Given the description of an element on the screen output the (x, y) to click on. 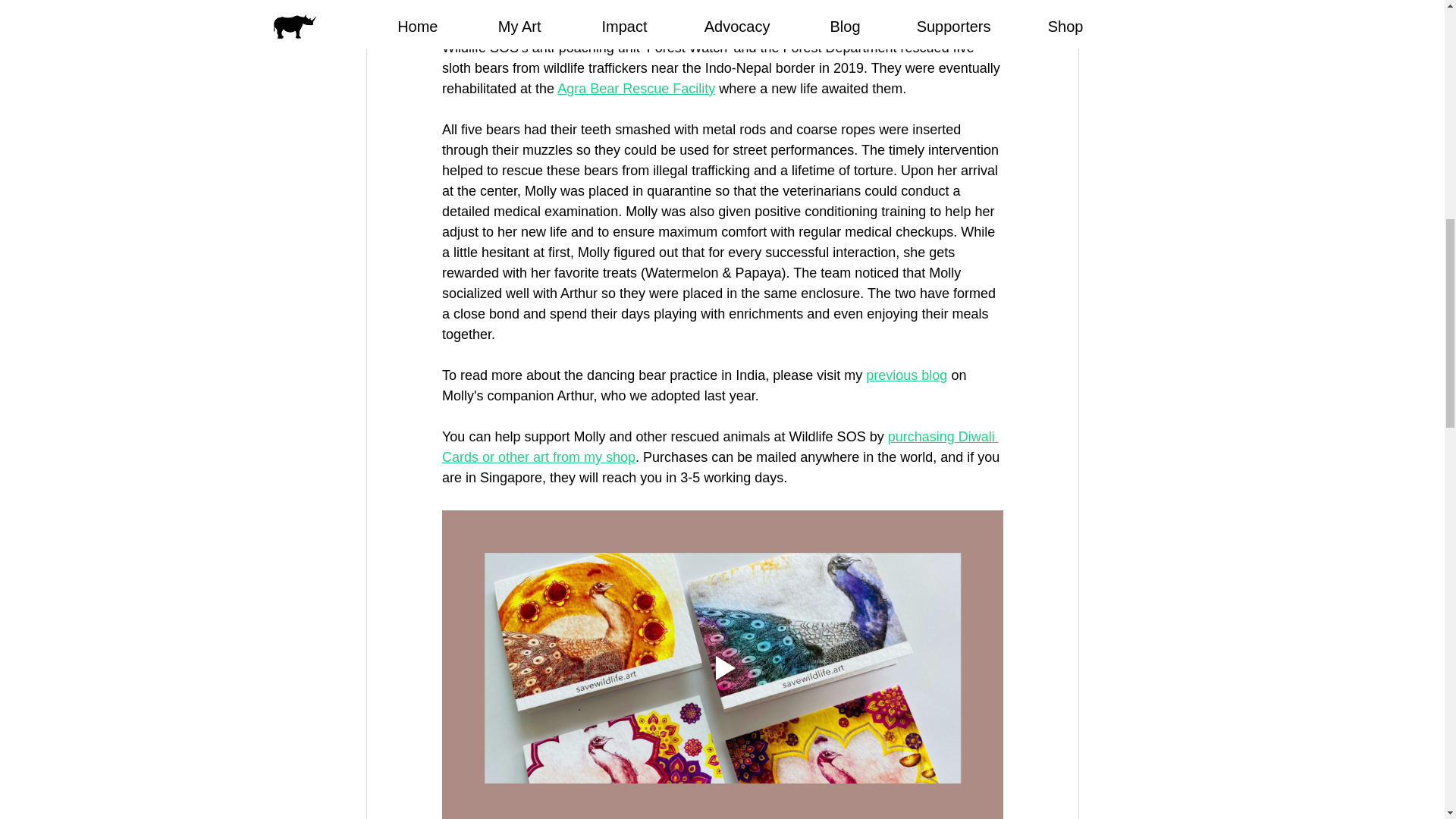
previous blog (906, 375)
purchasing Diwali Cards or other art from my shop (719, 447)
Agra Bear Rescue Facility (635, 88)
